Given the description of an element on the screen output the (x, y) to click on. 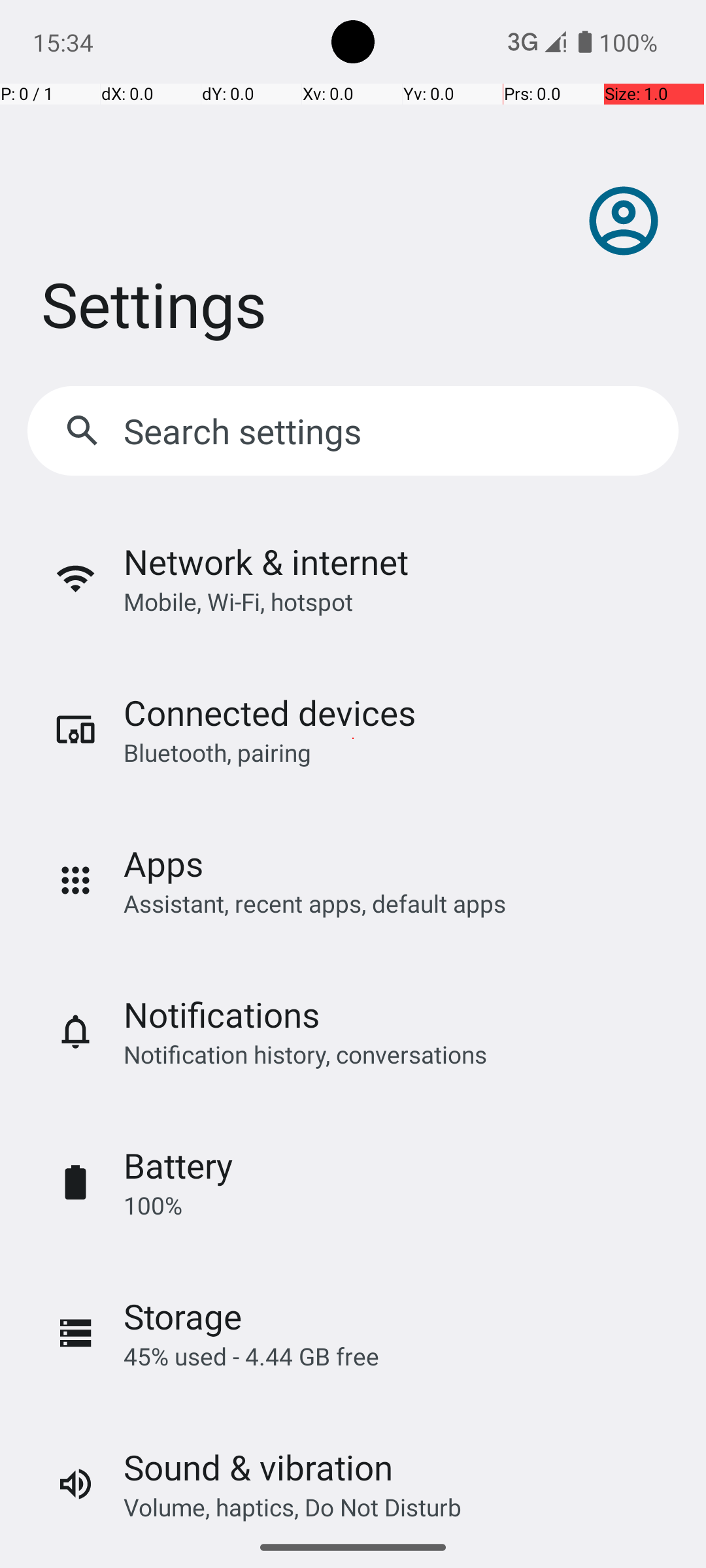
45% used - 4.44 GB free Element type: android.widget.TextView (251, 1355)
